Given the description of an element on the screen output the (x, y) to click on. 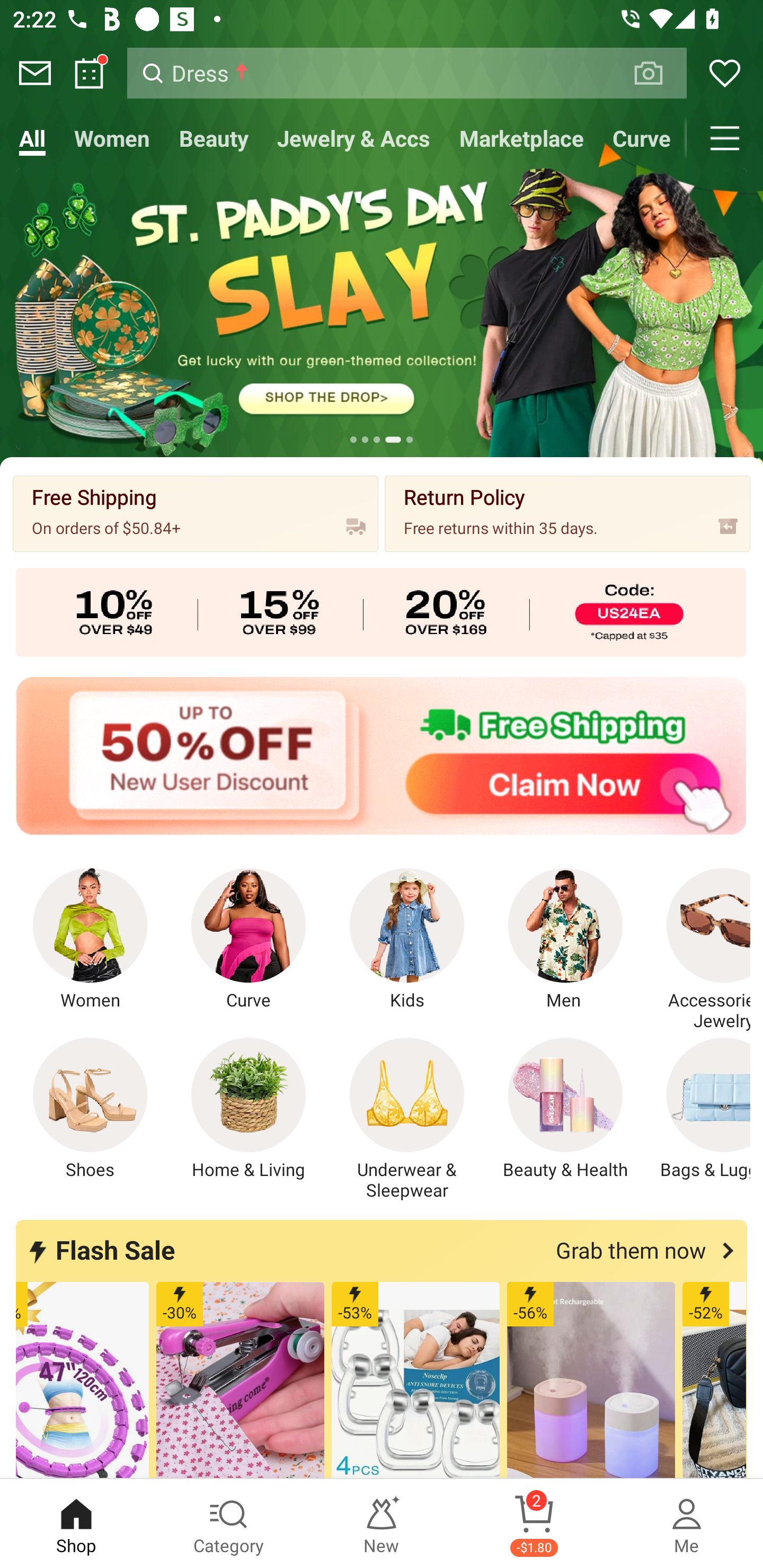
Wishlist (724, 72)
VISUAL SEARCH (657, 72)
All (31, 137)
Women (111, 137)
Beauty (213, 137)
Jewelry & Accs (353, 137)
Marketplace (521, 137)
Curve (641, 137)
Free Shipping On orders of $50.84+ (195, 513)
Return Policy Free returns within 35 days. (567, 513)
Women (89, 939)
Curve (248, 939)
Kids (406, 939)
Men  (565, 939)
Accessories & Jewelry (698, 949)
Shoes (89, 1109)
Home & Living (248, 1109)
Underwear & Sleepwear (406, 1119)
Beauty & Health (565, 1109)
Bags & Luggage (698, 1109)
Category (228, 1523)
New (381, 1523)
Cart 2 -$1.80 (533, 1523)
Me (686, 1523)
